Given the description of an element on the screen output the (x, y) to click on. 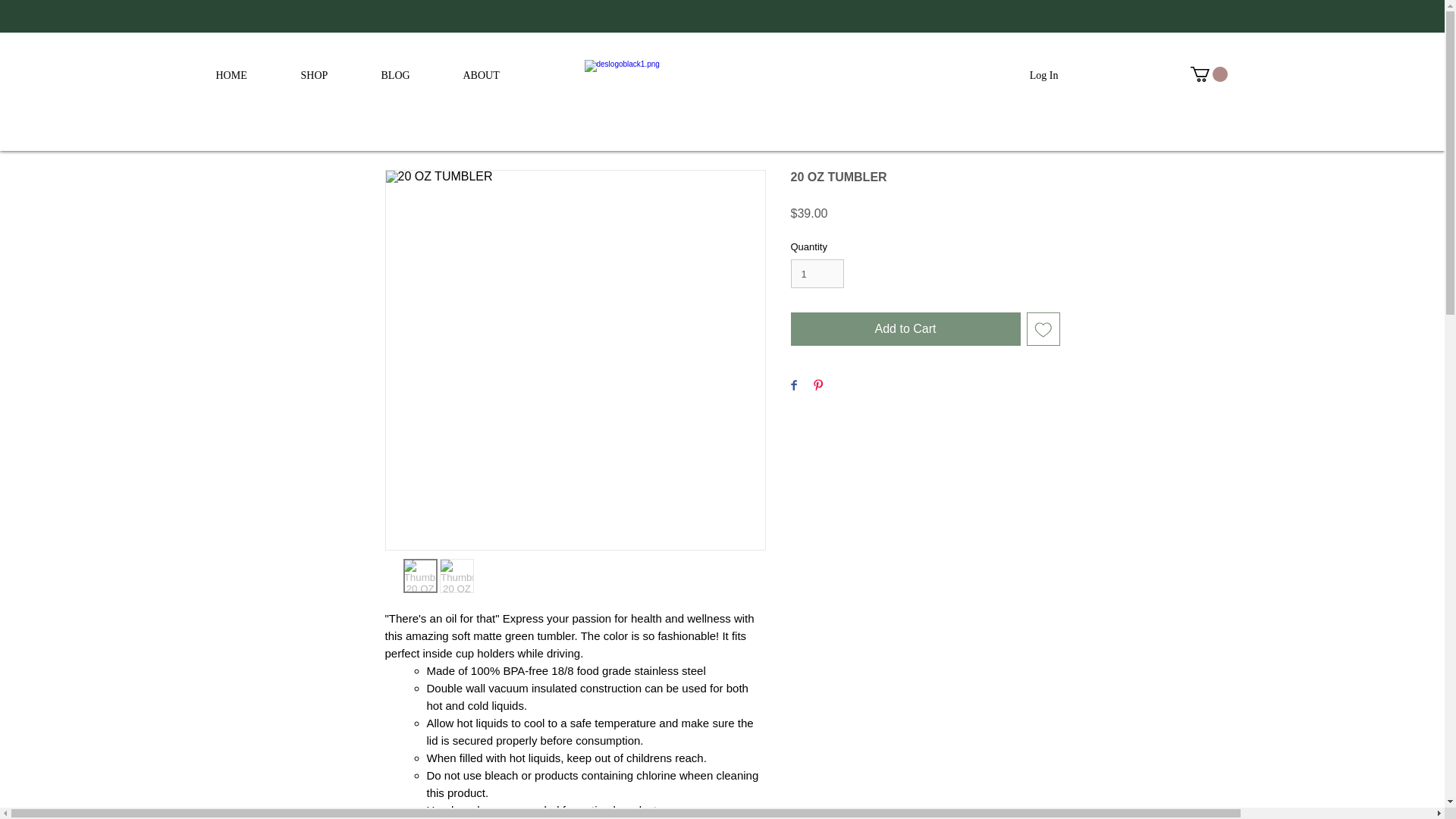
Add to Cart (905, 328)
1 (817, 273)
SHOP (329, 74)
BLOG (410, 74)
ABOUT (496, 74)
Log In (1043, 75)
HOME (247, 74)
